Given the description of an element on the screen output the (x, y) to click on. 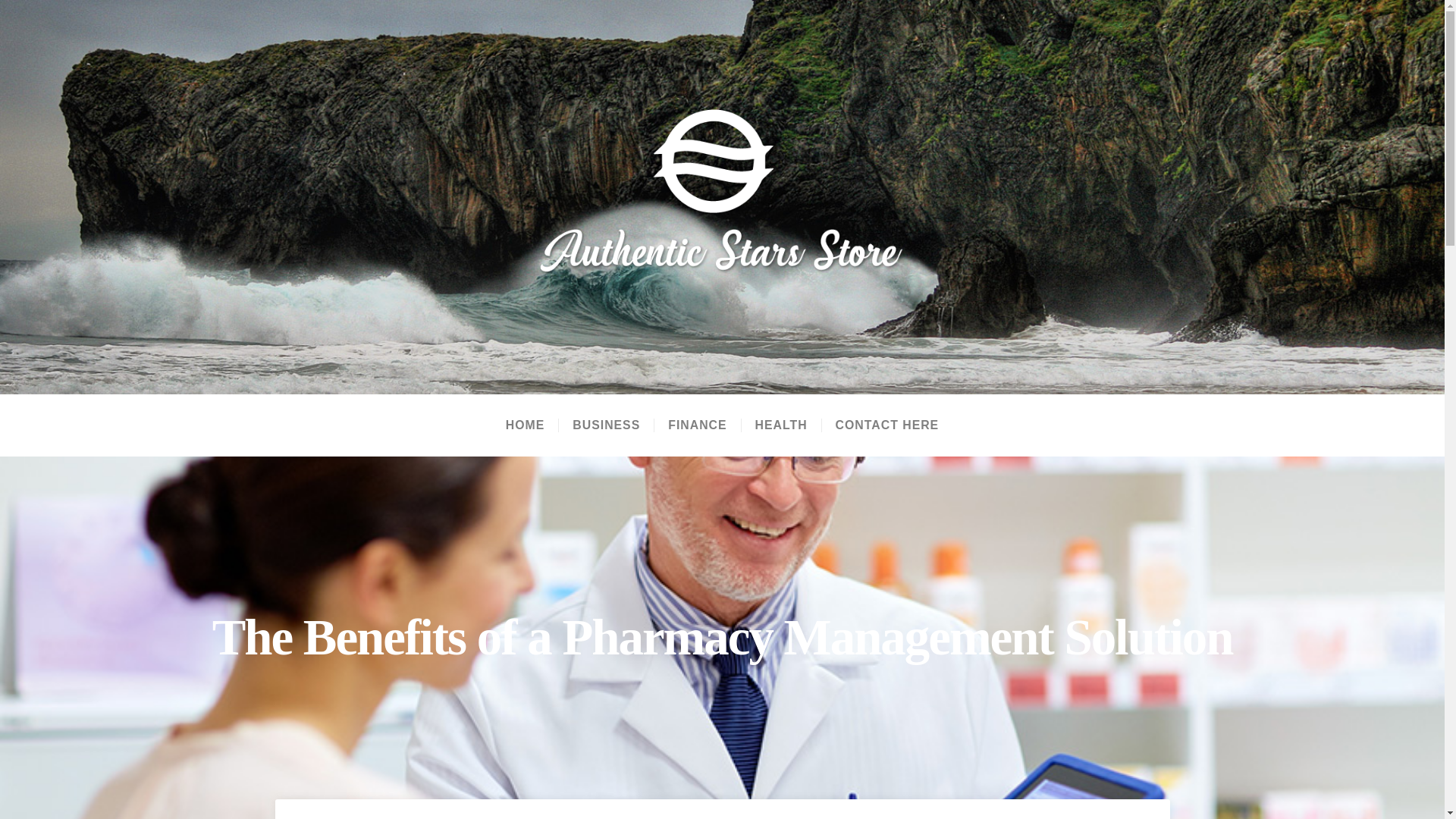
CONTACT HERE (887, 425)
HEALTH (781, 425)
FINANCE (696, 425)
BUSINESS (605, 425)
HOME (525, 425)
